Given the description of an element on the screen output the (x, y) to click on. 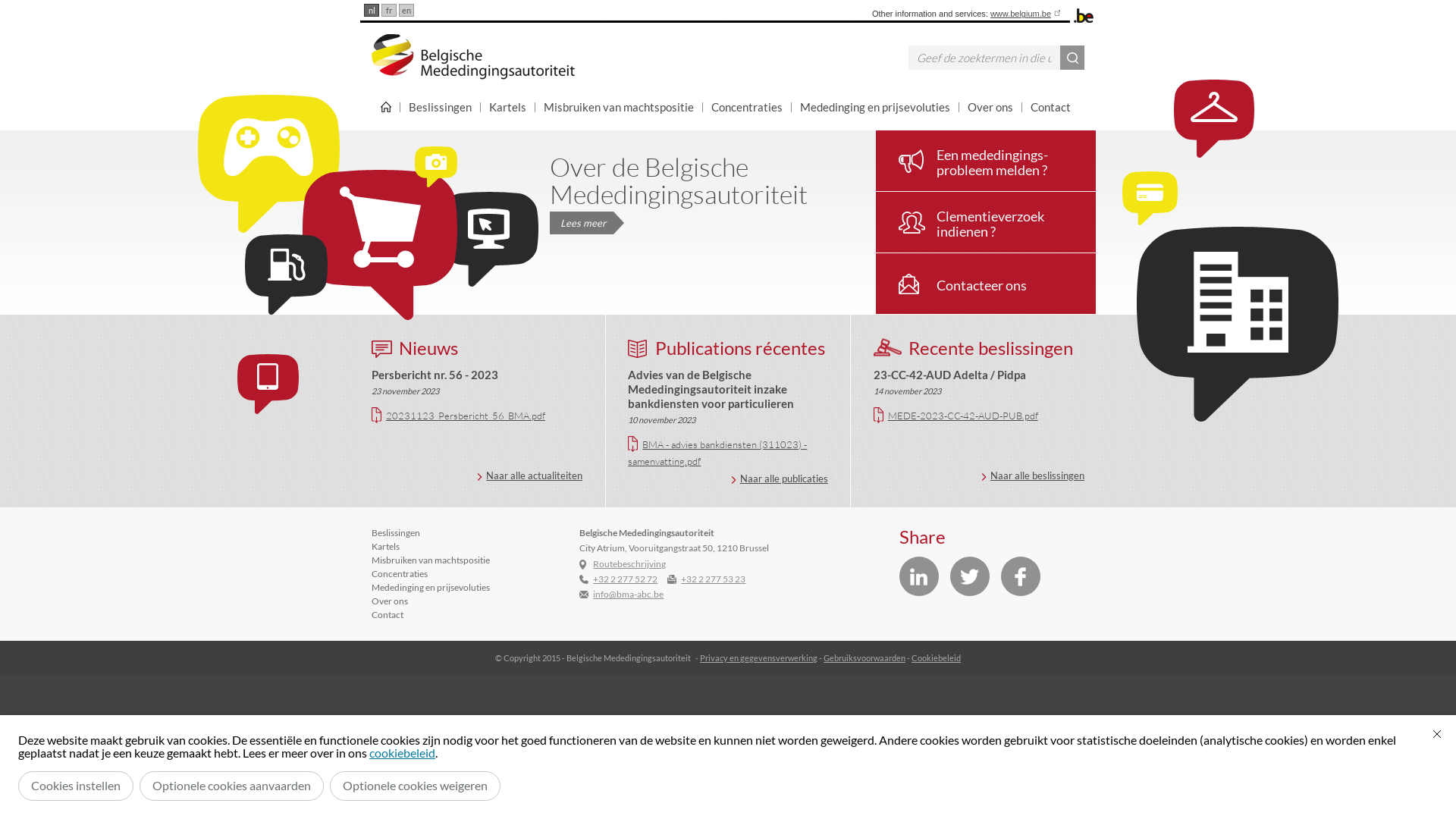
+32 2 277 52 72 Element type: text (625, 578)
Over ons Element type: text (389, 600)
Cookies instellen Element type: text (75, 785)
Over de Belgische Mededingingsautoriteit Element type: text (678, 180)
23-CC-42-AUD Adelta / Pidpa Element type: text (949, 374)
Naar alle actualiteiten Element type: text (529, 475)
Naar alle publicaties Element type: text (779, 478)
Over ons Element type: text (990, 106)
Misbruiken van machtspositie Element type: text (430, 559)
Een mededingings-
probleem melden ? Element type: text (985, 160)
info@bma-abc.be
(link sends e-mail) Element type: text (628, 593)
Contacteer ons Element type: text (985, 283)
www.belgium.be Element type: text (1026, 13)
Home Element type: text (385, 106)
Sluiten Element type: hover (1436, 733)
en Element type: text (406, 9)
cookiebeleid Element type: text (402, 752)
Cookiebeleid Element type: text (935, 657)
Mededinging en prijsevoluties Element type: text (875, 106)
Kartels Element type: text (385, 546)
Beslissingen Element type: text (395, 532)
fr Element type: text (388, 9)
Beslissingen Element type: text (440, 106)
Optionele cookies weigeren Element type: text (414, 785)
Persbericht nr. 56 - 2023 Element type: text (434, 374)
Kartels Element type: text (507, 106)
Lees meer Element type: text (581, 222)
Concentraties Element type: text (746, 106)
Routebeschrijving Element type: text (629, 563)
Gebruiksvoorwaarden Element type: text (864, 657)
Clementieverzoek indienen ? Element type: text (985, 221)
Overslaan en naar de inhoud gaan Element type: text (7, 4)
Optionele cookies aanvaarden Element type: text (231, 785)
Privacy en gegevensverwerking Element type: text (758, 657)
nl Element type: text (371, 9)
Contact Element type: text (1050, 106)
Misbruiken van machtspositie Element type: text (618, 106)
Search Element type: text (1072, 57)
Mededinging en prijsevoluties Element type: text (430, 587)
Concentraties Element type: text (399, 573)
Contact Element type: text (387, 614)
+32 2 277 53 23 Element type: text (712, 578)
Naar alle beslissingen Element type: text (1032, 475)
Back to the homepage Element type: hover (472, 56)
